Given the description of an element on the screen output the (x, y) to click on. 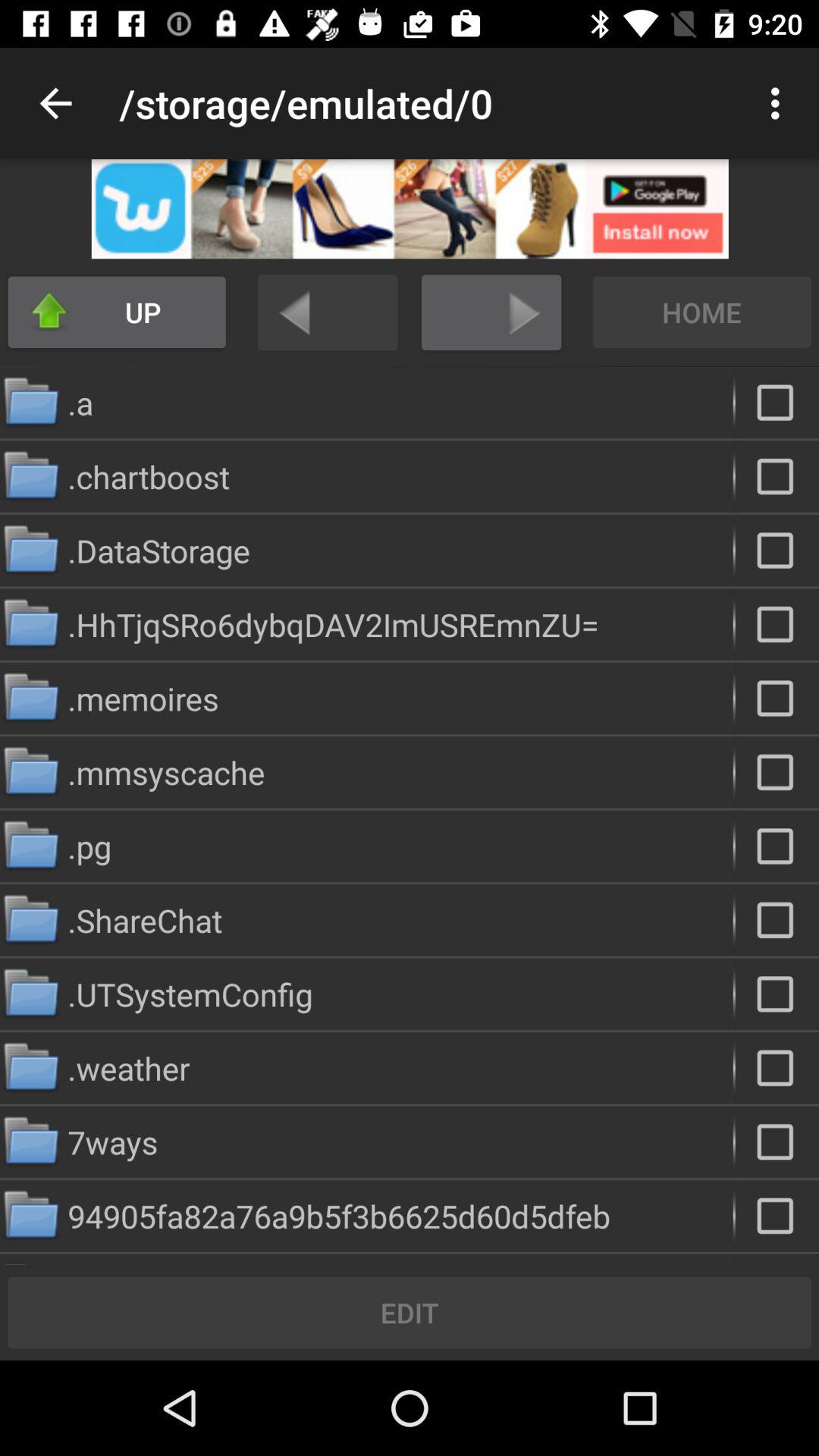
choose a folder (777, 846)
